Given the description of an element on the screen output the (x, y) to click on. 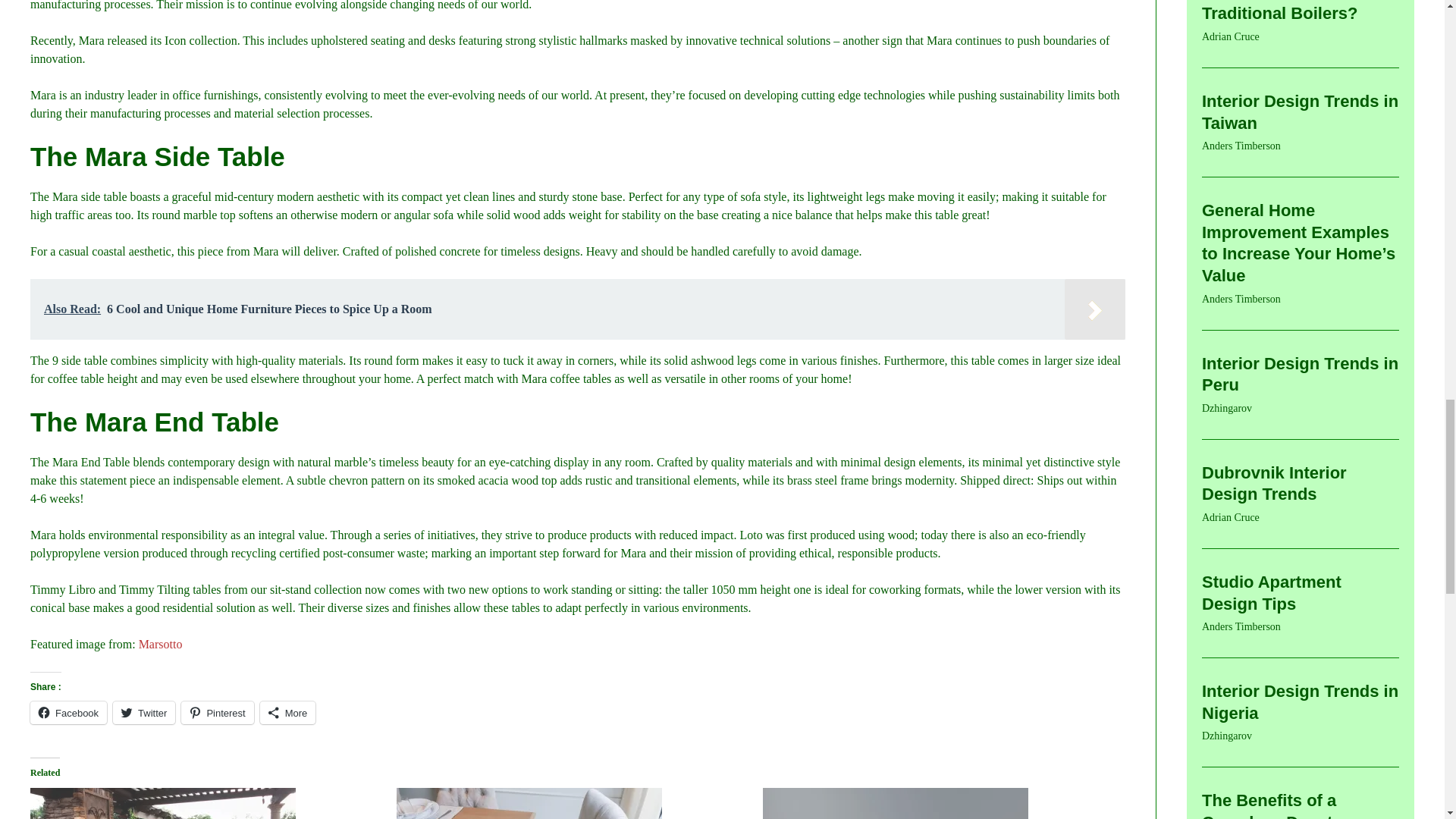
Click to share on Twitter (143, 712)
6 Decorating Ideas To Prepare Your Porch Or Patio For Summer (205, 803)
Click to share on Pinterest (216, 712)
Twitter (143, 712)
Click to share on Facebook (68, 712)
5 Types of Chairs For a Stylish Home (937, 803)
How To Choose Dining Chairs (572, 803)
More (287, 712)
Pinterest (216, 712)
